Given the description of an element on the screen output the (x, y) to click on. 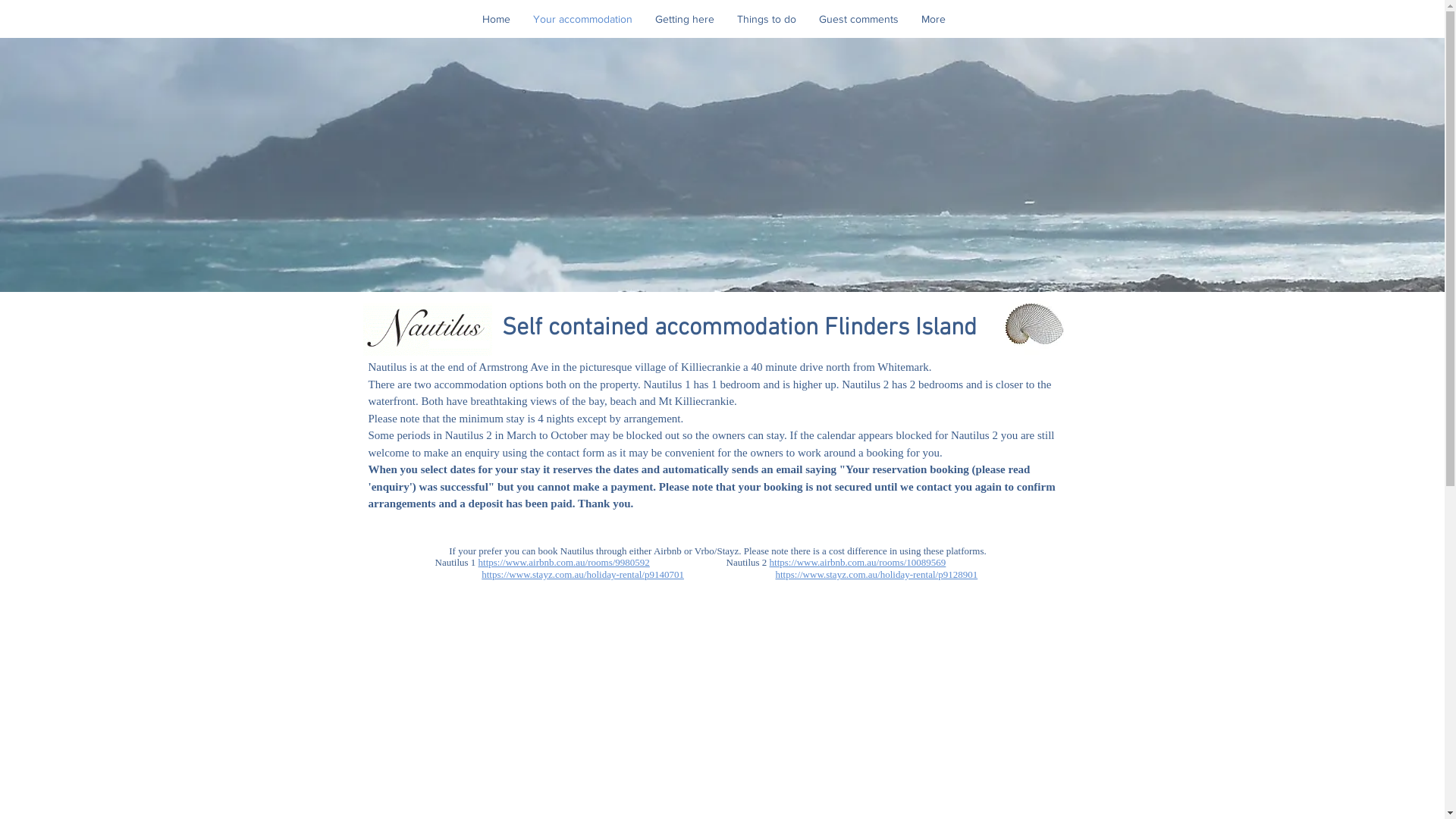
https://www.stayz.com.au/holiday-rental/p9128901 Element type: text (876, 574)
https://www.stayz.com.au/holiday-rental/p9140701 Element type: text (582, 574)
https://www.airbnb.com.au/rooms/9980592 Element type: text (563, 561)
Things to do Element type: text (766, 18)
                    Element type: text (750, 574)
Your accommodation Element type: text (582, 18)
https://www.airbnb.com.au/rooms/10089569 Element type: text (857, 561)
Getting here Element type: text (684, 18)
                    Element type: text (458, 574)
Guest comments Element type: text (858, 18)
Home Element type: text (495, 18)
